Given the description of an element on the screen output the (x, y) to click on. 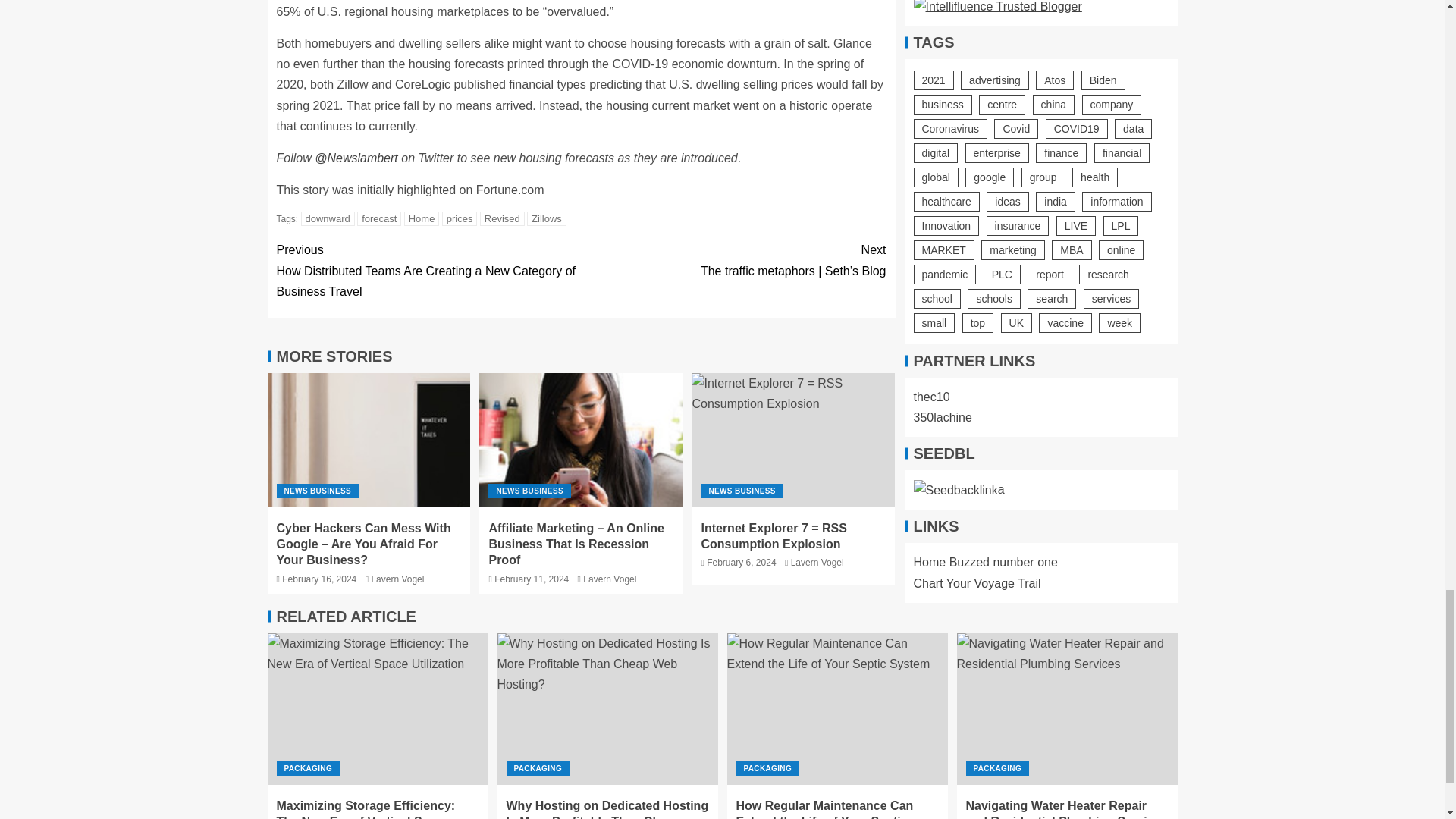
Lavern Vogel (397, 579)
Zillows (546, 218)
Revised (502, 218)
downward (328, 218)
Home (421, 218)
forecast (378, 218)
NEWS BUSINESS (528, 490)
NEWS BUSINESS (317, 490)
